Given the description of an element on the screen output the (x, y) to click on. 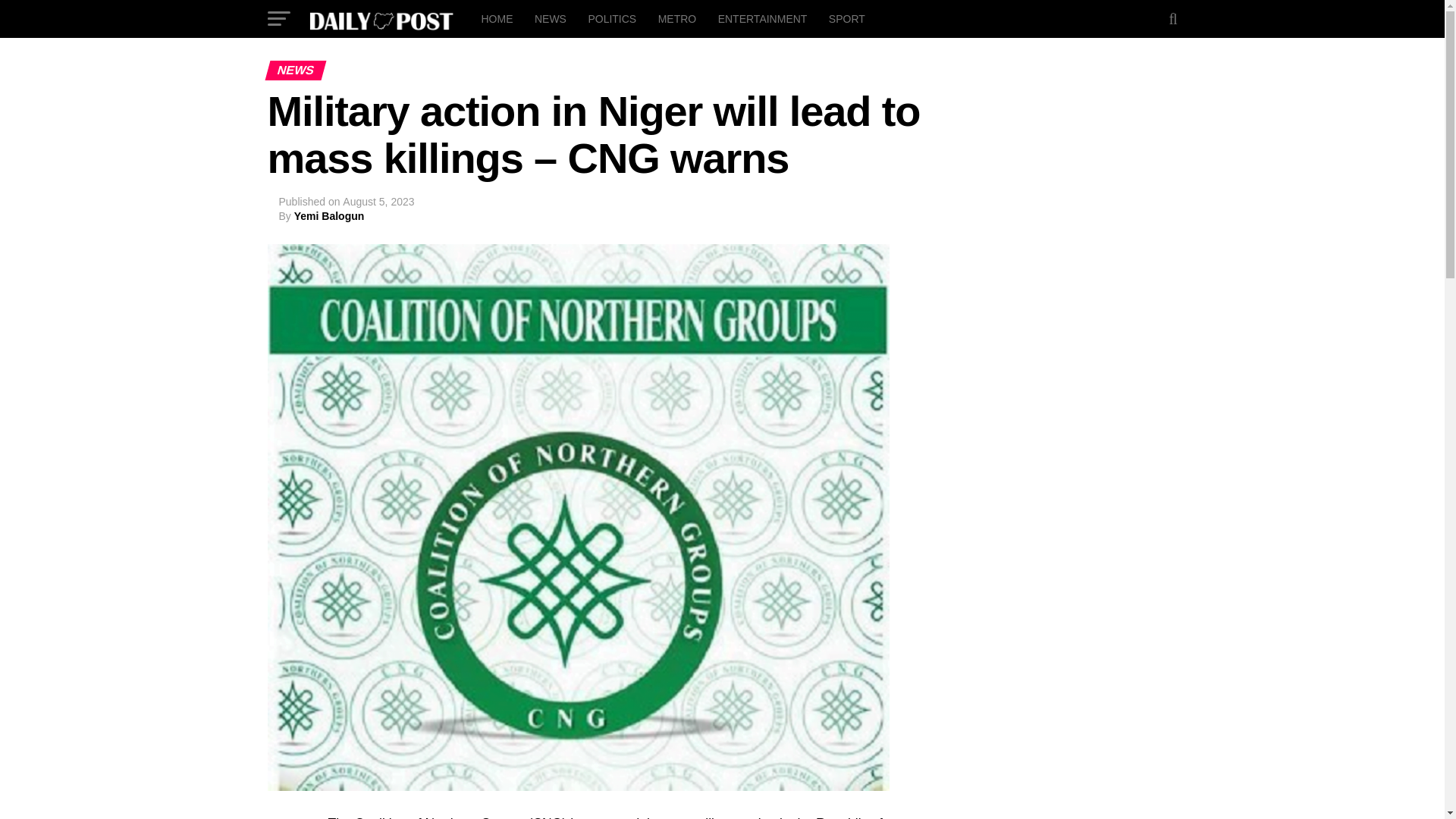
HOME (496, 18)
NEWS (550, 18)
Posts by Yemi Balogun (329, 215)
SPORT (847, 18)
Yemi Balogun (329, 215)
METRO (677, 18)
ENTERTAINMENT (762, 18)
POLITICS (611, 18)
